Given the description of an element on the screen output the (x, y) to click on. 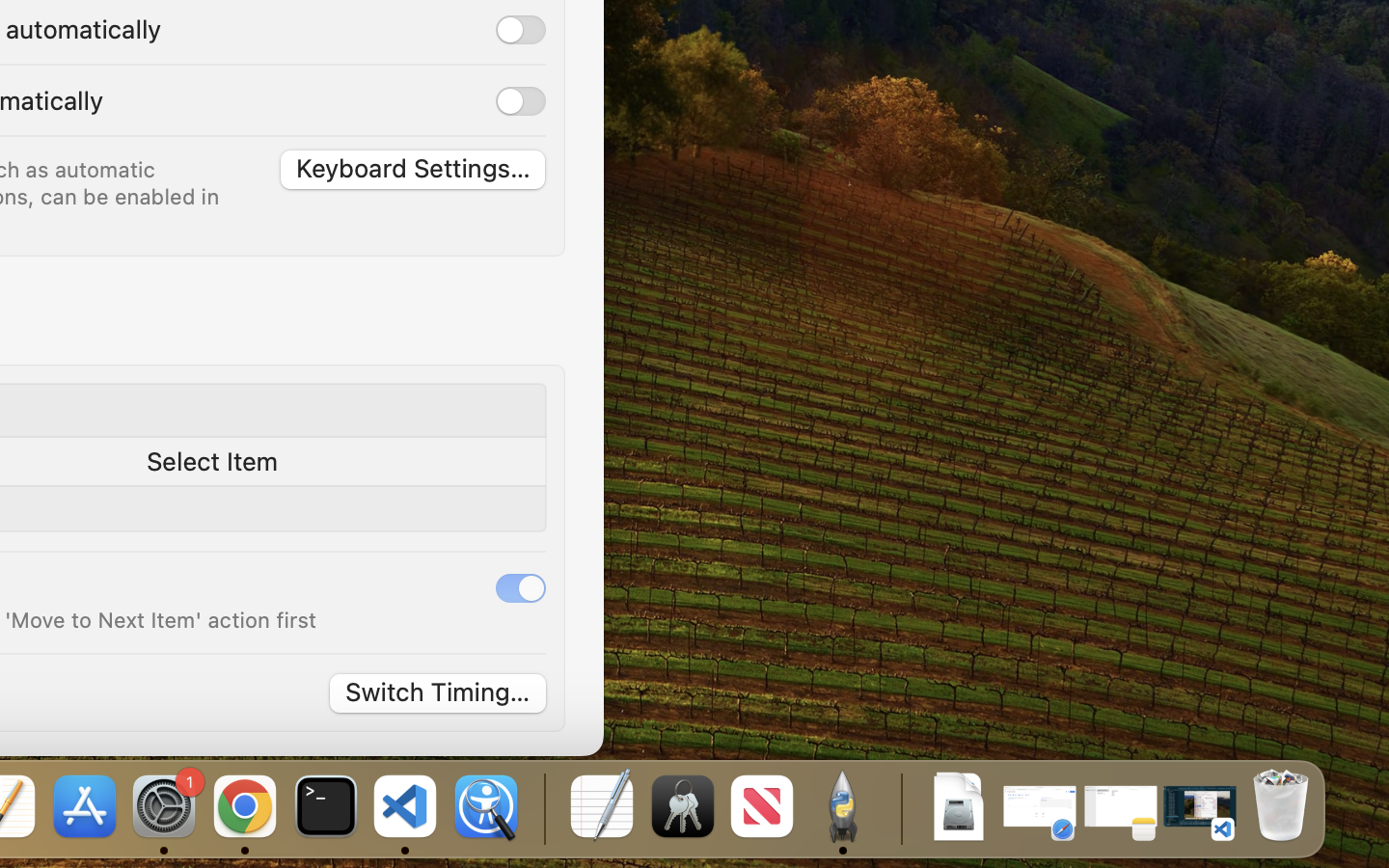
0.4285714328289032 Element type: AXDockItem (541, 807)
Select Item Element type: AXStaticText (211, 460)
